Given the description of an element on the screen output the (x, y) to click on. 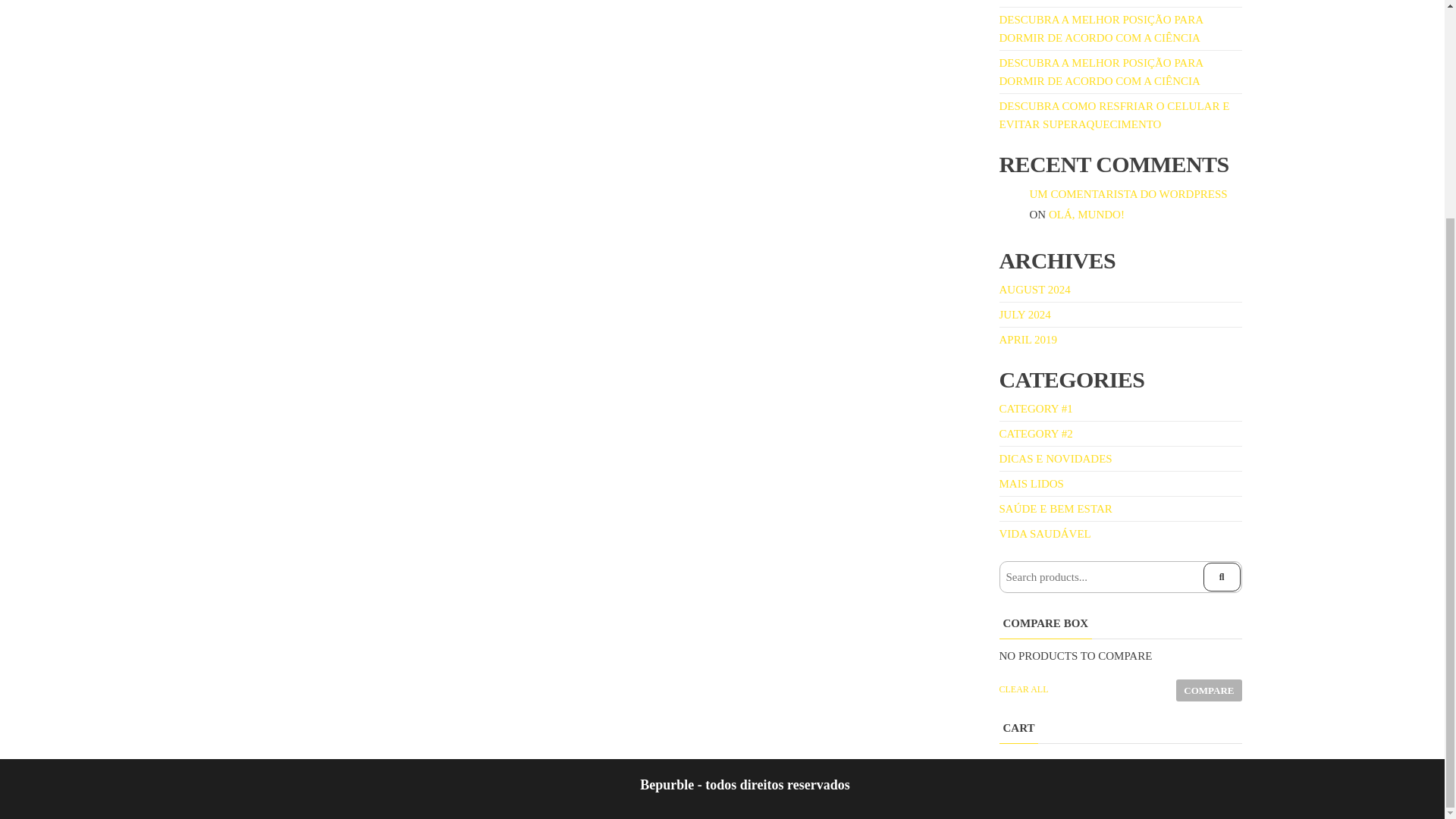
APRIL 2019 (1028, 339)
AUGUST 2024 (1034, 289)
UM COMENTARISTA DO WORDPRESS (1128, 193)
JULY 2024 (1024, 314)
DESCUBRA COMO RESFRIAR O CELULAR E EVITAR SUPERAQUECIMENTO (1114, 114)
